Given the description of an element on the screen output the (x, y) to click on. 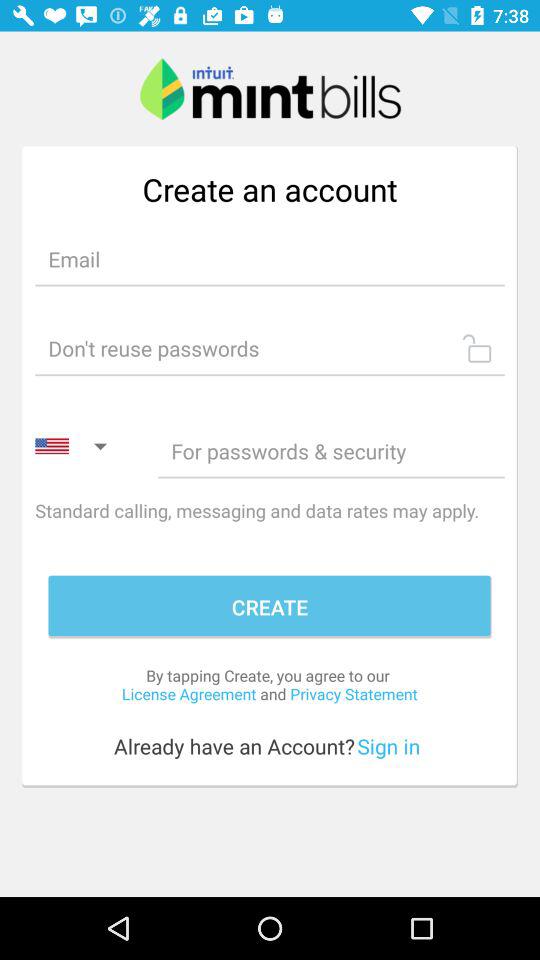
click to enter number (331, 450)
